Given the description of an element on the screen output the (x, y) to click on. 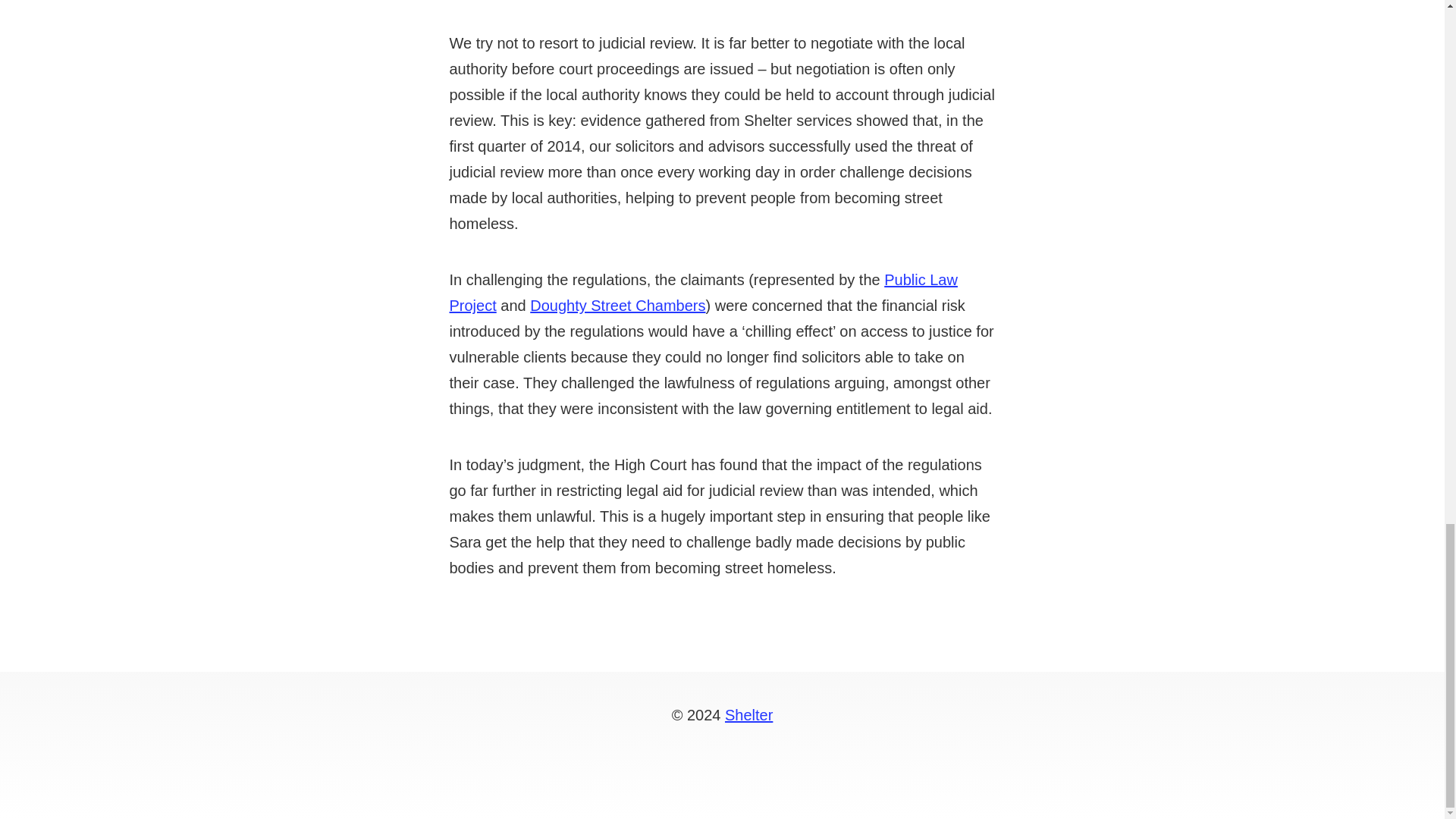
Shelter (749, 714)
Public Law Project (702, 292)
Doughty Street Chambers (616, 305)
